Given the description of an element on the screen output the (x, y) to click on. 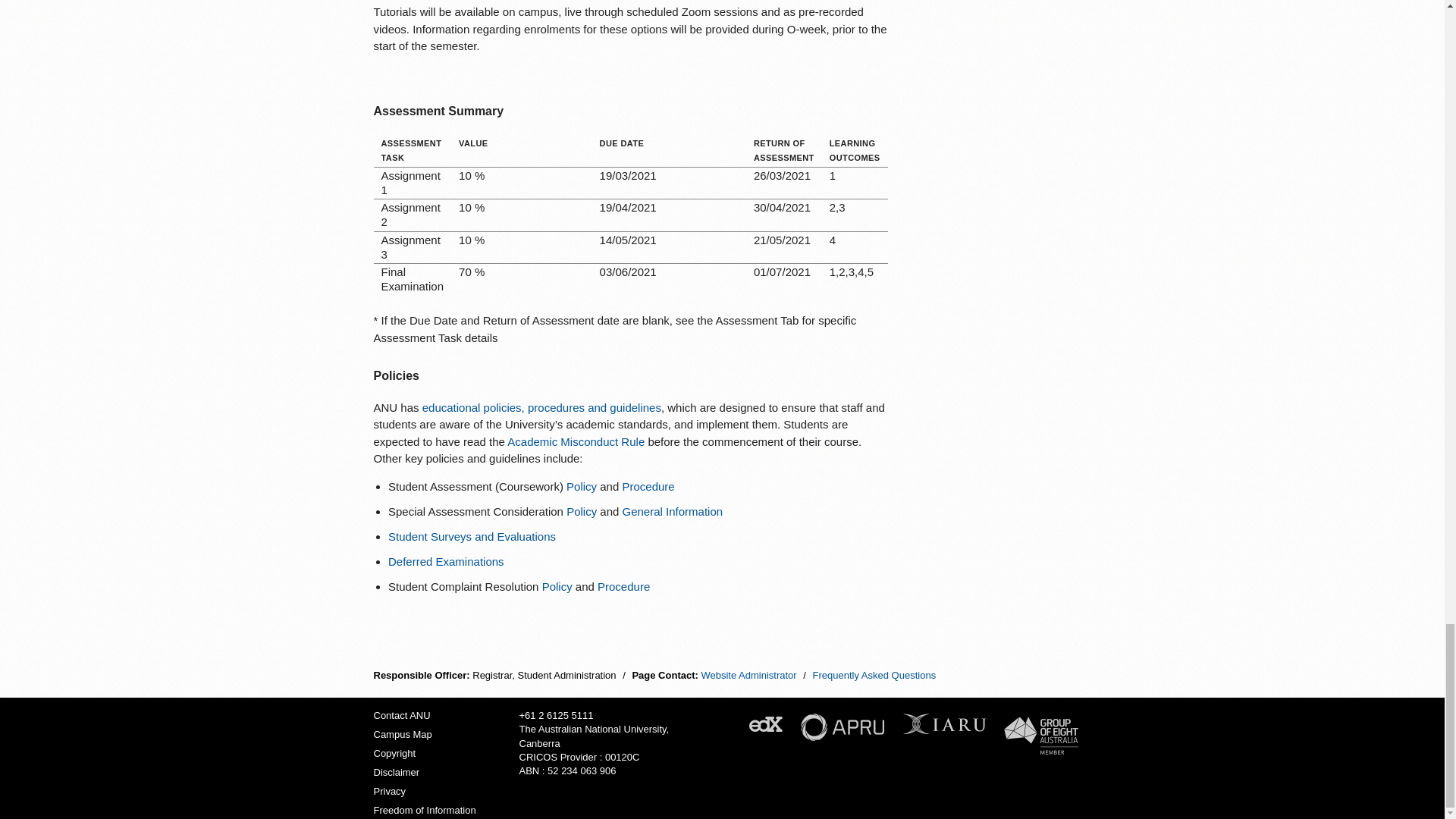
educational policies, procedures and guidelines (541, 407)
